Given the description of an element on the screen output the (x, y) to click on. 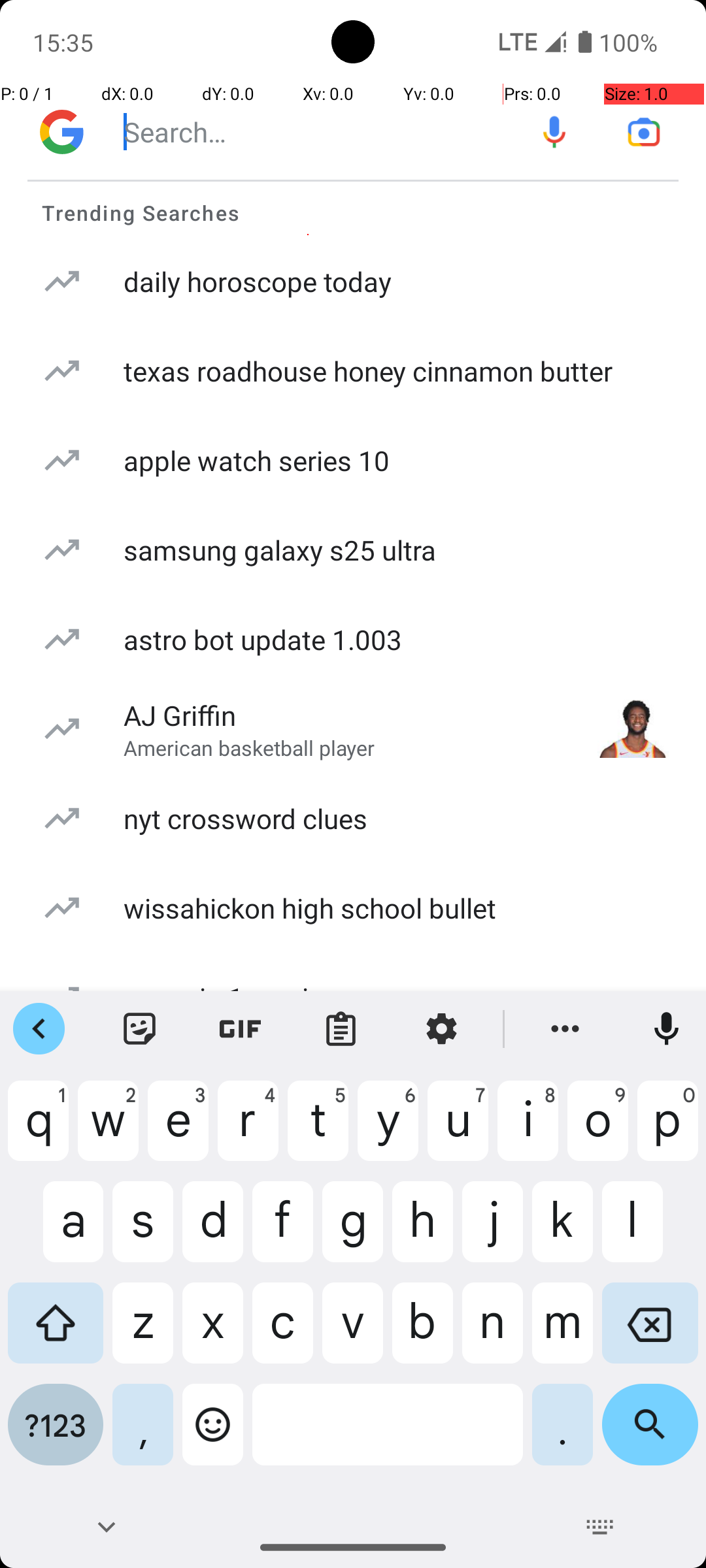
Go to Discover Element type: android.widget.ImageView (61, 131)
Voice Search Element type: android.widget.ImageButton (554, 131)
Predictions Element type: android.support.v7.widget.RecyclerView (353, 874)
Trending Searches Element type: android.widget.TextView (352, 208)
Search daily horoscope today. Element type: android.view.ViewGroup (352, 281)
Search texas roadhouse honey cinnamon butter. Element type: android.view.ViewGroup (352, 370)
Search apple watch series 10. Element type: android.view.ViewGroup (352, 460)
Search samsung galaxy s25 ultra. Element type: android.view.ViewGroup (352, 549)
Search astro bot update 1.003. Element type: android.view.ViewGroup (352, 639)
Search aj griffin American basketball player. Element type: android.view.ViewGroup (352, 728)
Search nyt crossword clues. Element type: android.view.ViewGroup (352, 818)
Search wissahickon high school bullet. Element type: android.view.ViewGroup (352, 907)
Search openai o1 preview. Element type: android.view.ViewGroup (352, 997)
daily horoscope today Element type: android.widget.TextView (257, 280)
texas roadhouse honey cinnamon butter Element type: android.widget.TextView (368, 370)
apple watch series 10 Element type: android.widget.TextView (256, 459)
samsung galaxy s25 ultra Element type: android.widget.TextView (279, 549)
astro bot update 1.003 Element type: android.widget.TextView (262, 638)
AJ Griffin Element type: android.widget.TextView (179, 714)
American basketball player Element type: android.widget.TextView (249, 747)
nyt crossword clues Element type: android.widget.TextView (245, 817)
wissahickon high school bullet Element type: android.widget.TextView (309, 907)
openai o1 preview Element type: android.widget.TextView (233, 996)
